Given the description of an element on the screen output the (x, y) to click on. 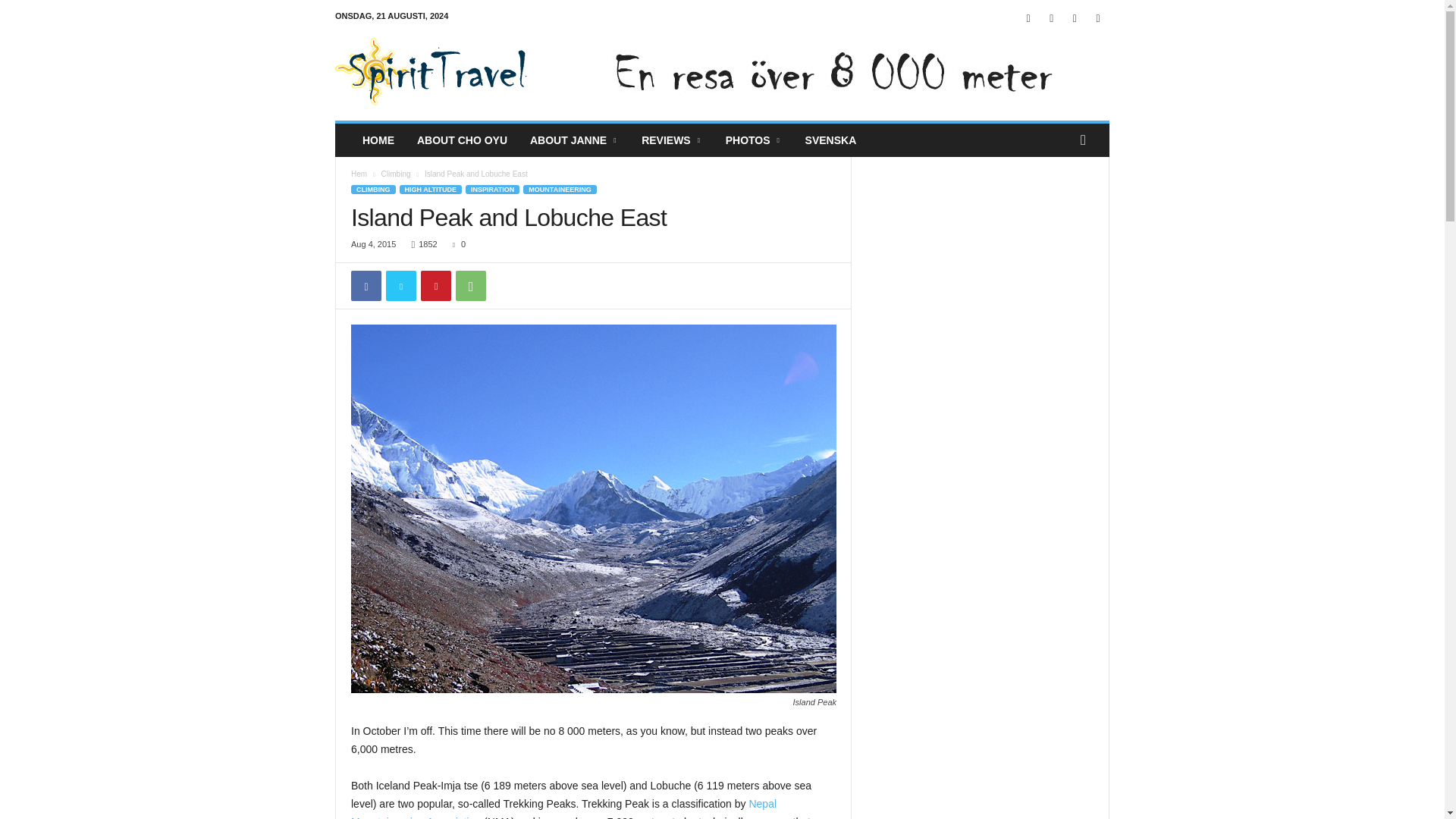
ABOUT JANNE (574, 140)
SVENSKA (830, 140)
ABOUT CHO OYU (462, 140)
REVIEWS (672, 140)
Spirit Travel (437, 70)
HOME (378, 140)
Facebook (365, 286)
Climbing (395, 173)
Twitter (400, 286)
HIGH ALTITUDE (429, 189)
